Given the description of an element on the screen output the (x, y) to click on. 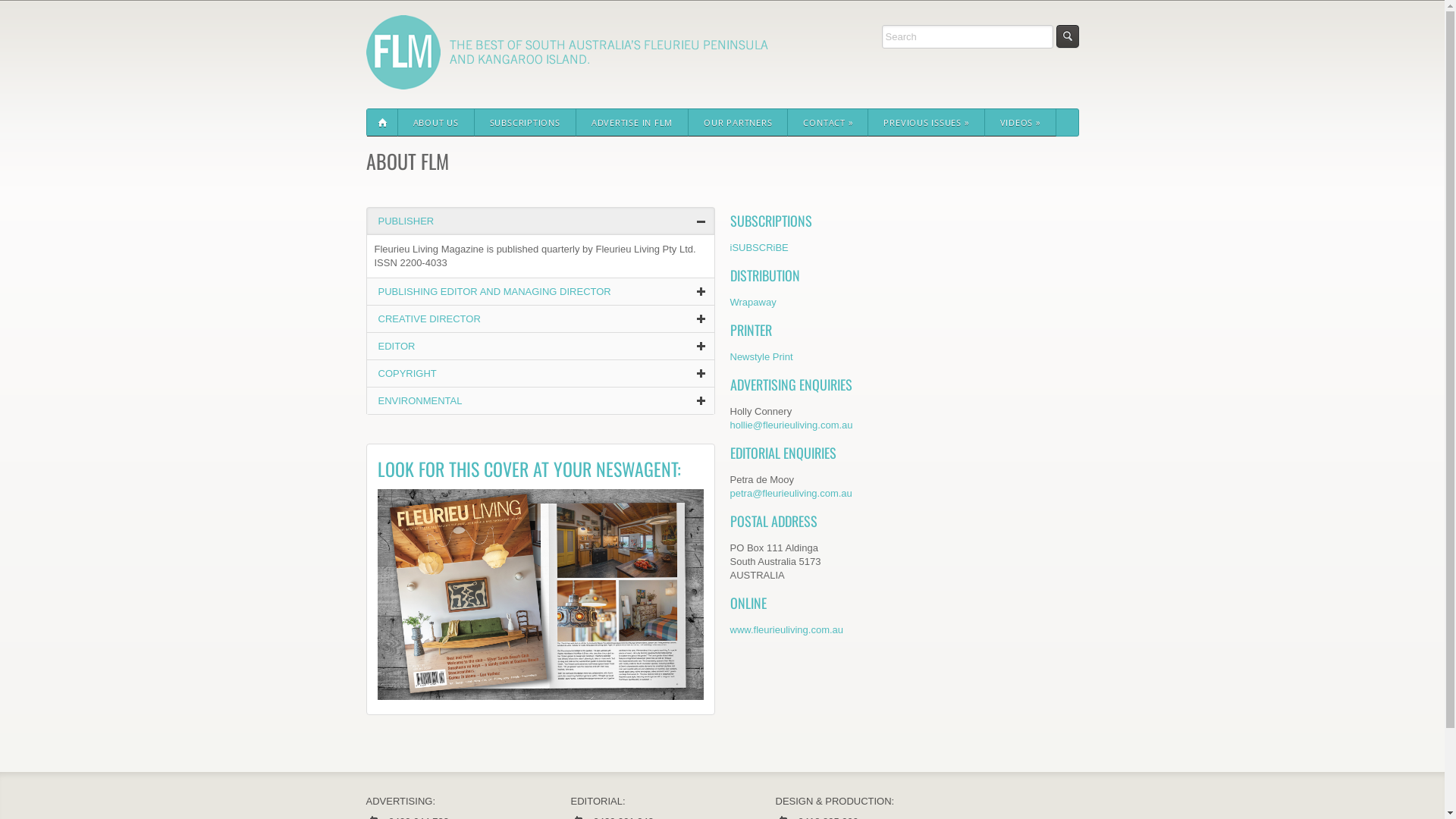
PUBLISHER Element type: text (405, 220)
PUBLISHING EDITOR AND MANAGING DIRECTOR Element type: text (493, 291)
ABOUT US Element type: text (435, 122)
EDITOR Element type: text (395, 345)
Spring 2022 Element type: hover (540, 594)
CREATIVE DIRECTOR Element type: text (428, 318)
petra@fleurieuliving.com.au Element type: text (790, 492)
hollie@fleurieuliving.com.au Element type: text (790, 424)
www.fleurieuliving.com.au Element type: text (786, 629)
ADVERTISE IN FLM Element type: text (632, 122)
Newstyle Print Element type: text (760, 356)
iSUBSCRiBE Element type: text (758, 247)
Fleurieu Living Magazine Element type: hover (566, 81)
COPYRIGHT Element type: text (406, 373)
OUR PARTNERS Element type: text (737, 122)
Wrapaway Element type: text (752, 301)
SUBSCRIPTIONS Element type: text (525, 122)
HOME PAGE Element type: text (382, 122)
ENVIRONMENTAL Element type: text (419, 400)
